Given the description of an element on the screen output the (x, y) to click on. 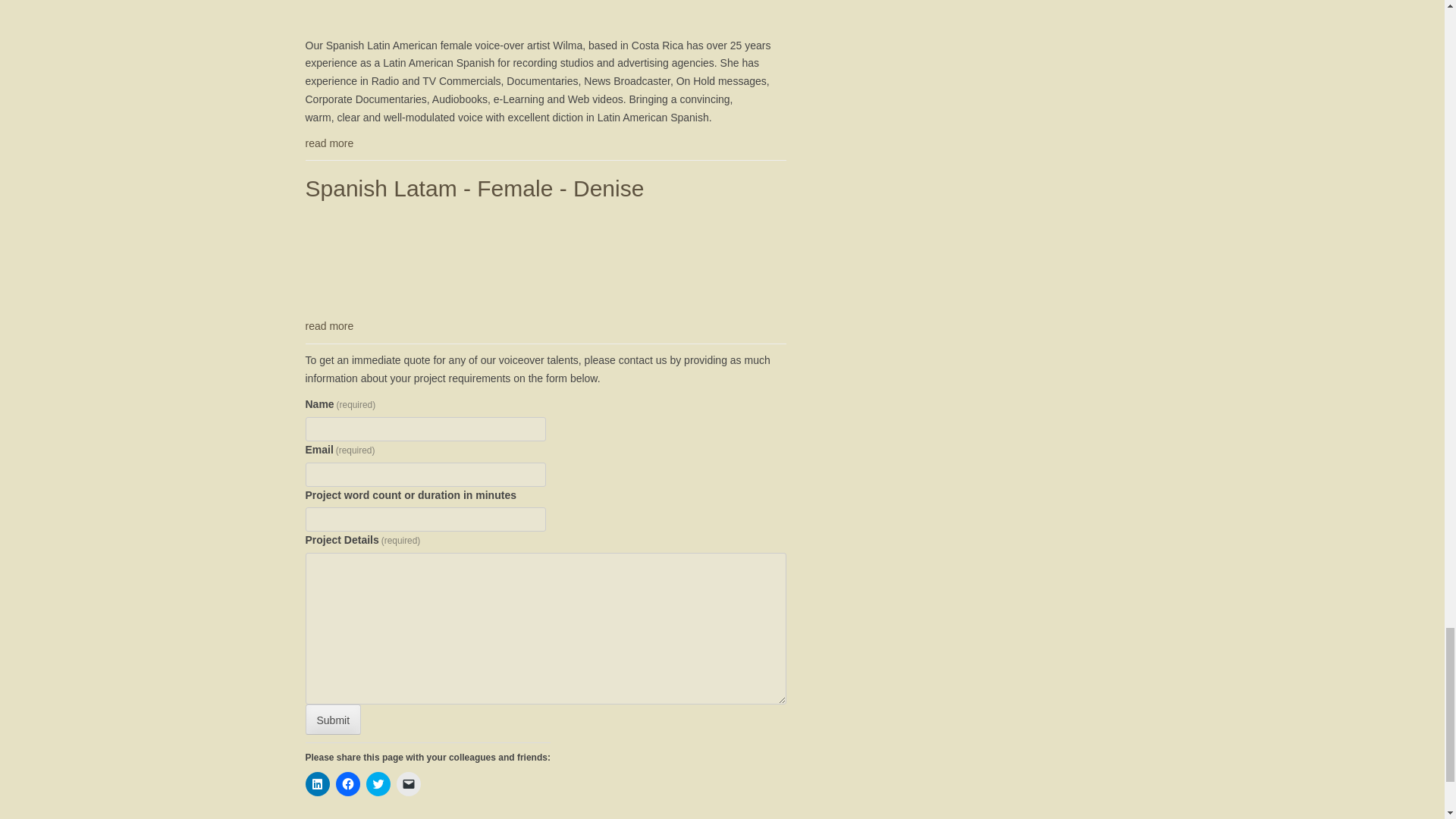
Click to share on Twitter (377, 784)
Click to email a link to a friend (408, 784)
Click to share on Facebook (346, 784)
Click to share on LinkedIn (316, 784)
